Given the description of an element on the screen output the (x, y) to click on. 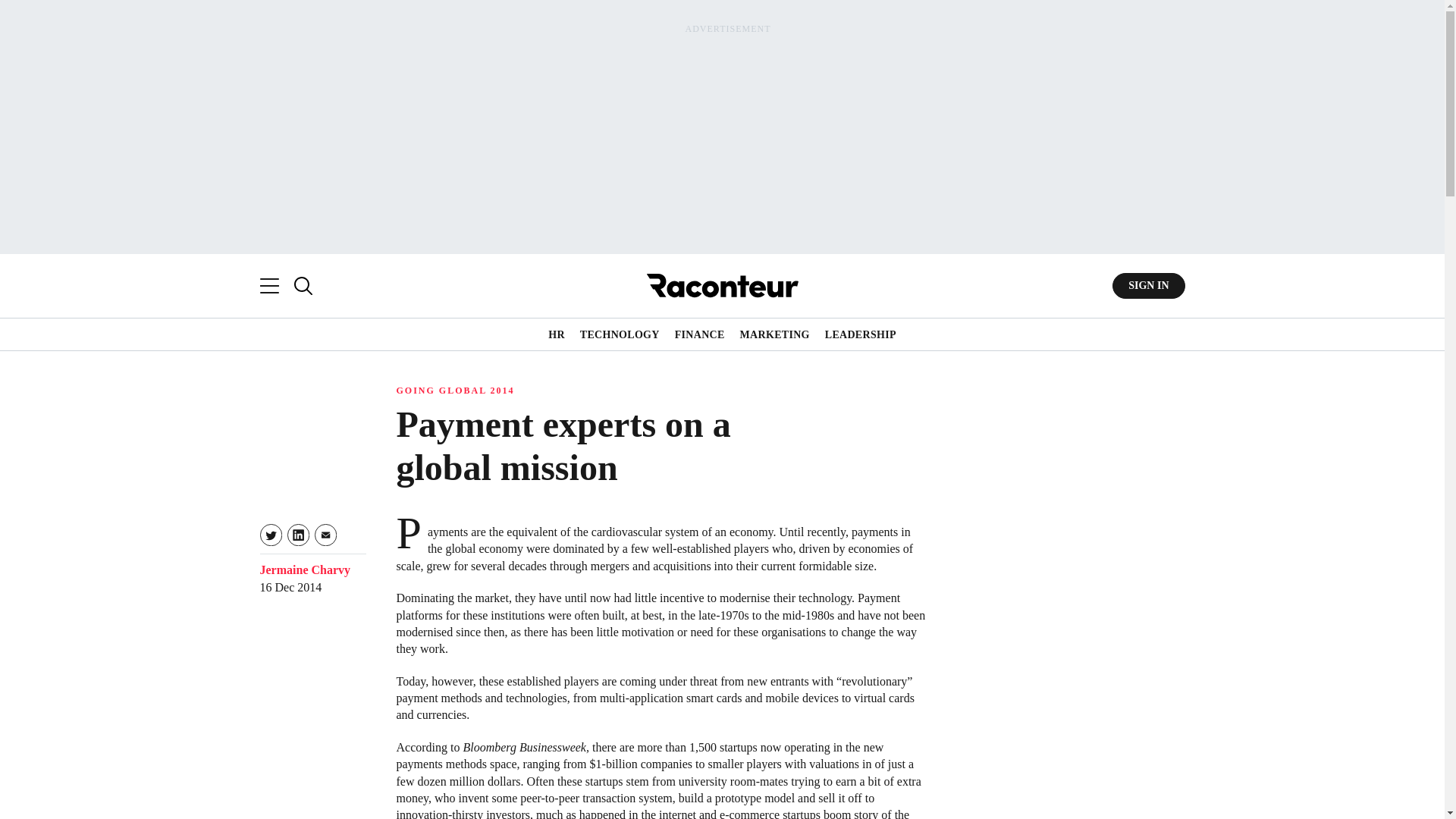
SIGN IN (1148, 285)
FINANCE (700, 334)
TECHNOLOGY (619, 334)
MARKETING (774, 334)
Raconteur (721, 285)
GOING GLOBAL 2014 (454, 389)
LEADERSHIP (860, 334)
Jermaine Charvy (304, 569)
HR (556, 334)
